Given the description of an element on the screen output the (x, y) to click on. 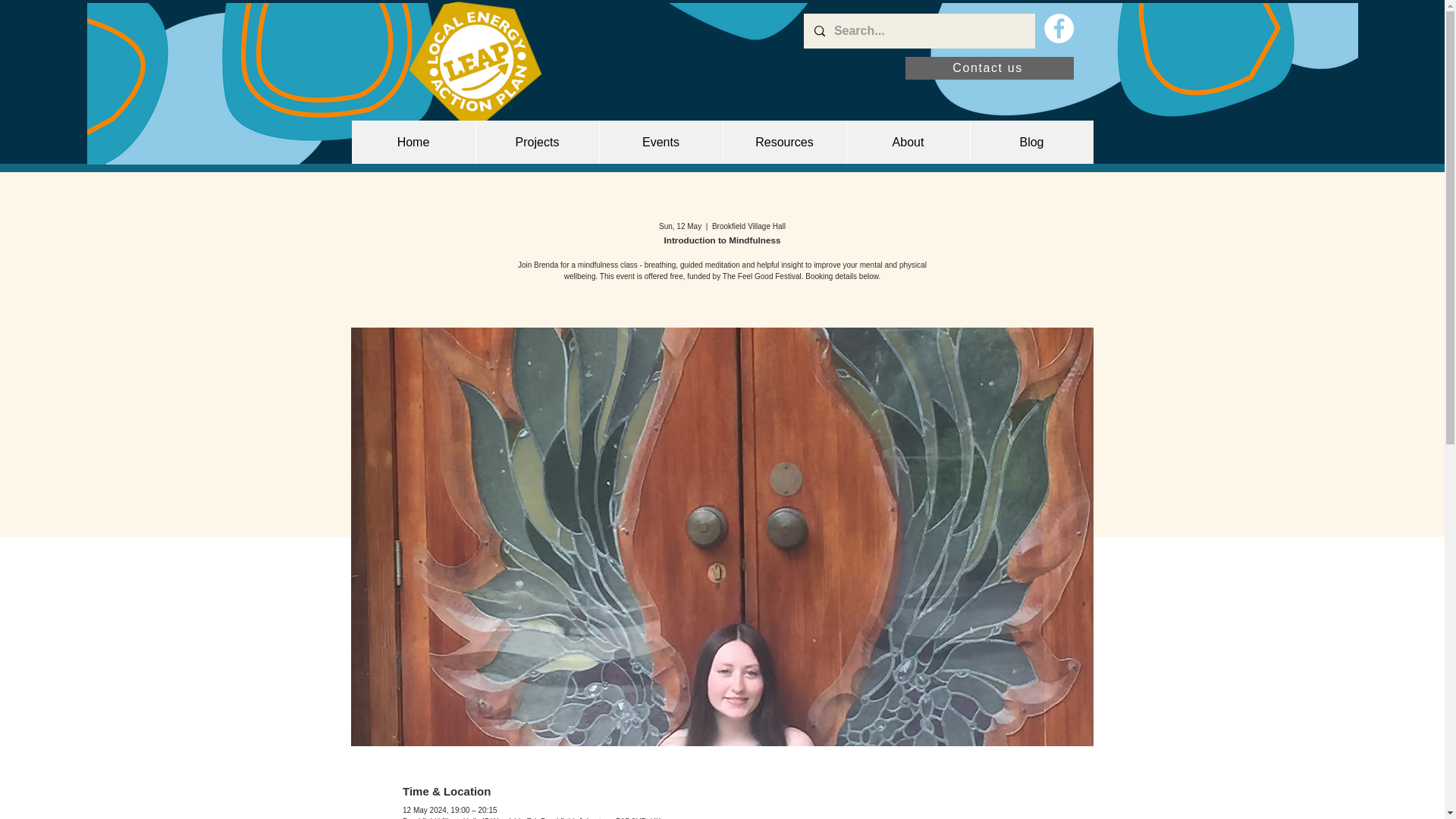
Home (414, 141)
Events (660, 141)
Contact us (989, 67)
Blog (1031, 141)
